Given the description of an element on the screen output the (x, y) to click on. 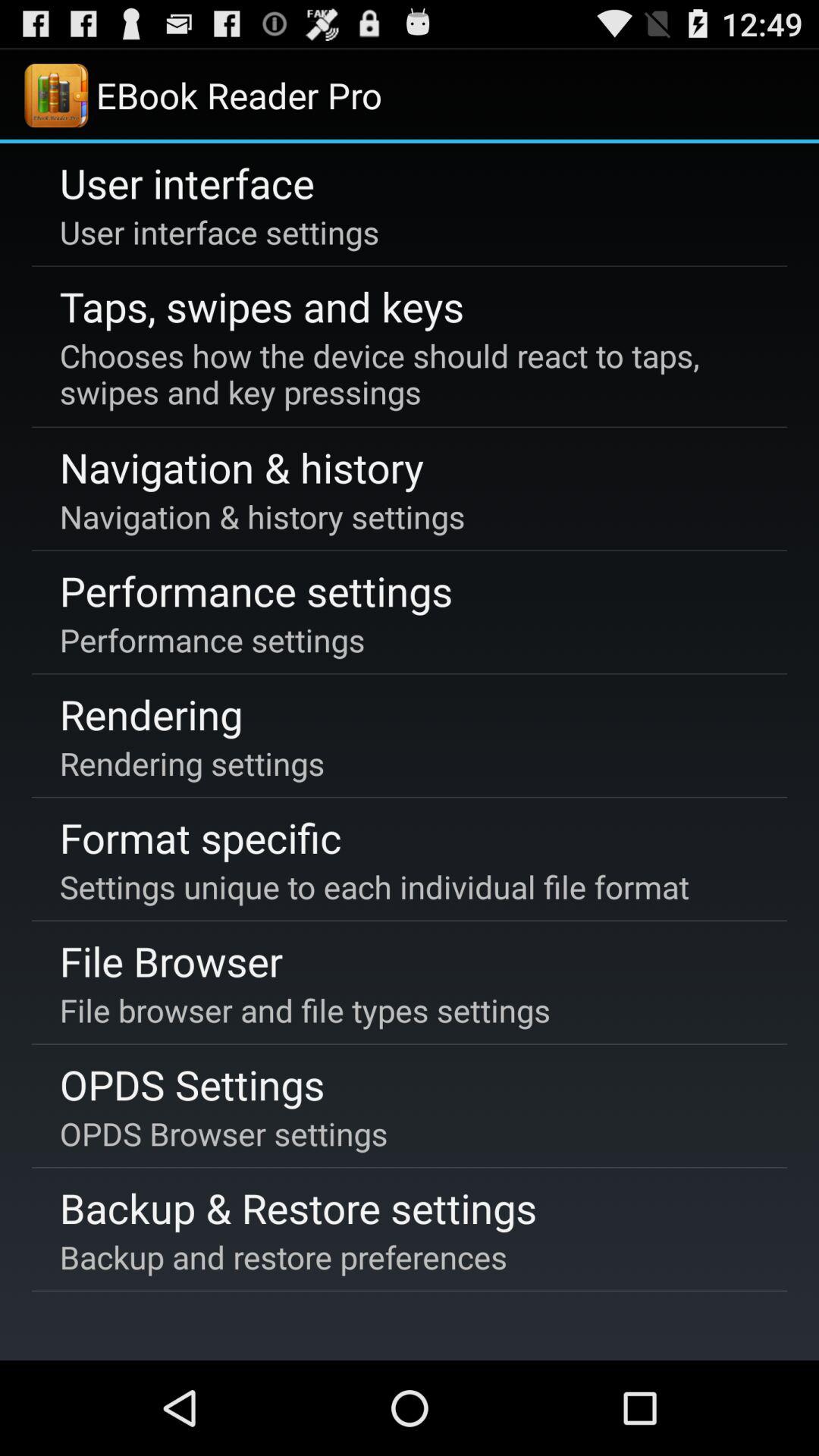
choose format specific icon (200, 837)
